Given the description of an element on the screen output the (x, y) to click on. 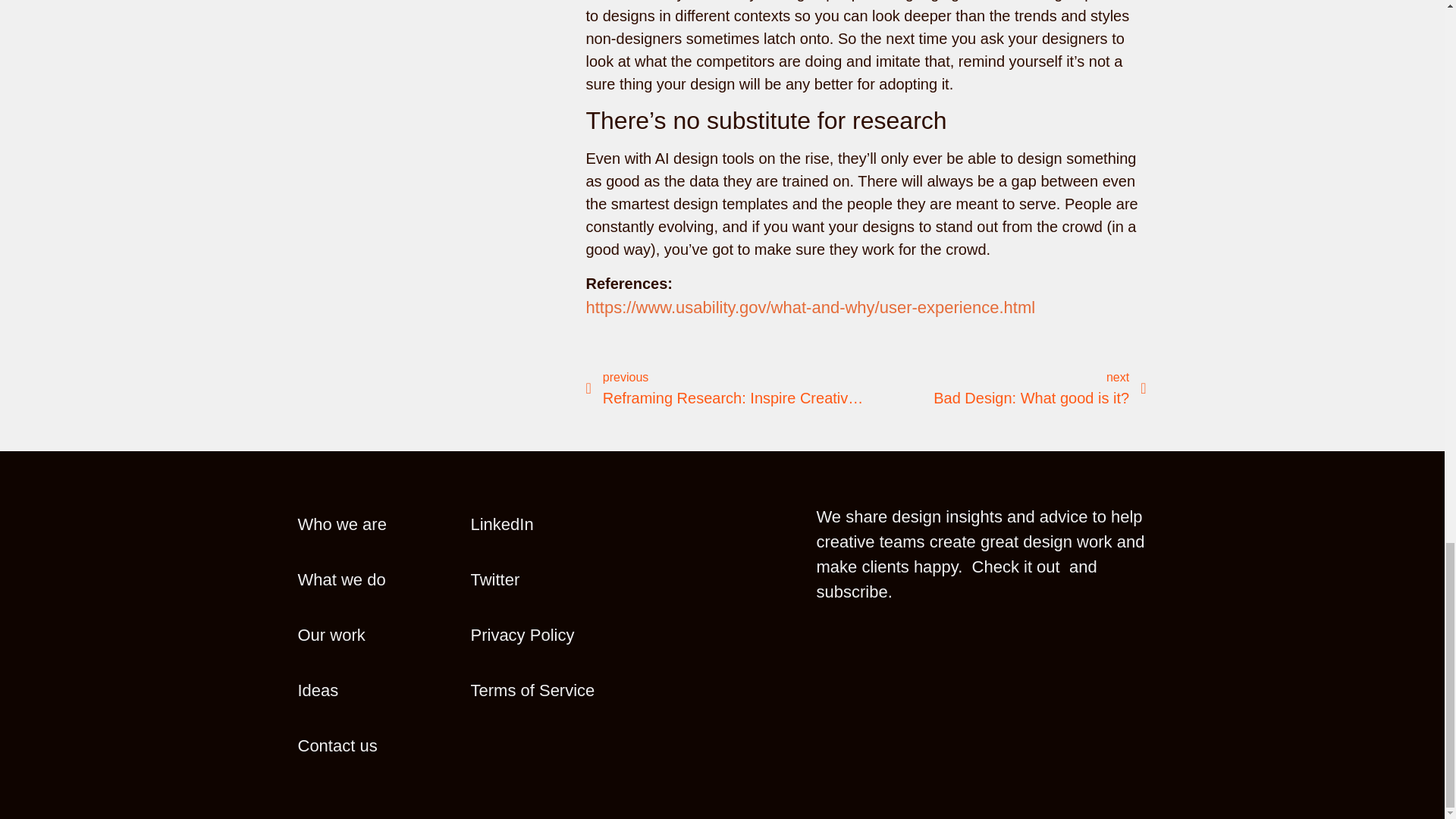
Terms of Service (724, 388)
What we do (548, 690)
Privacy Policy (375, 579)
Who we are (548, 634)
Twitter (375, 524)
Ideas (548, 579)
Contact us (375, 690)
LinkedIn (375, 745)
Our work (548, 524)
